Given the description of an element on the screen output the (x, y) to click on. 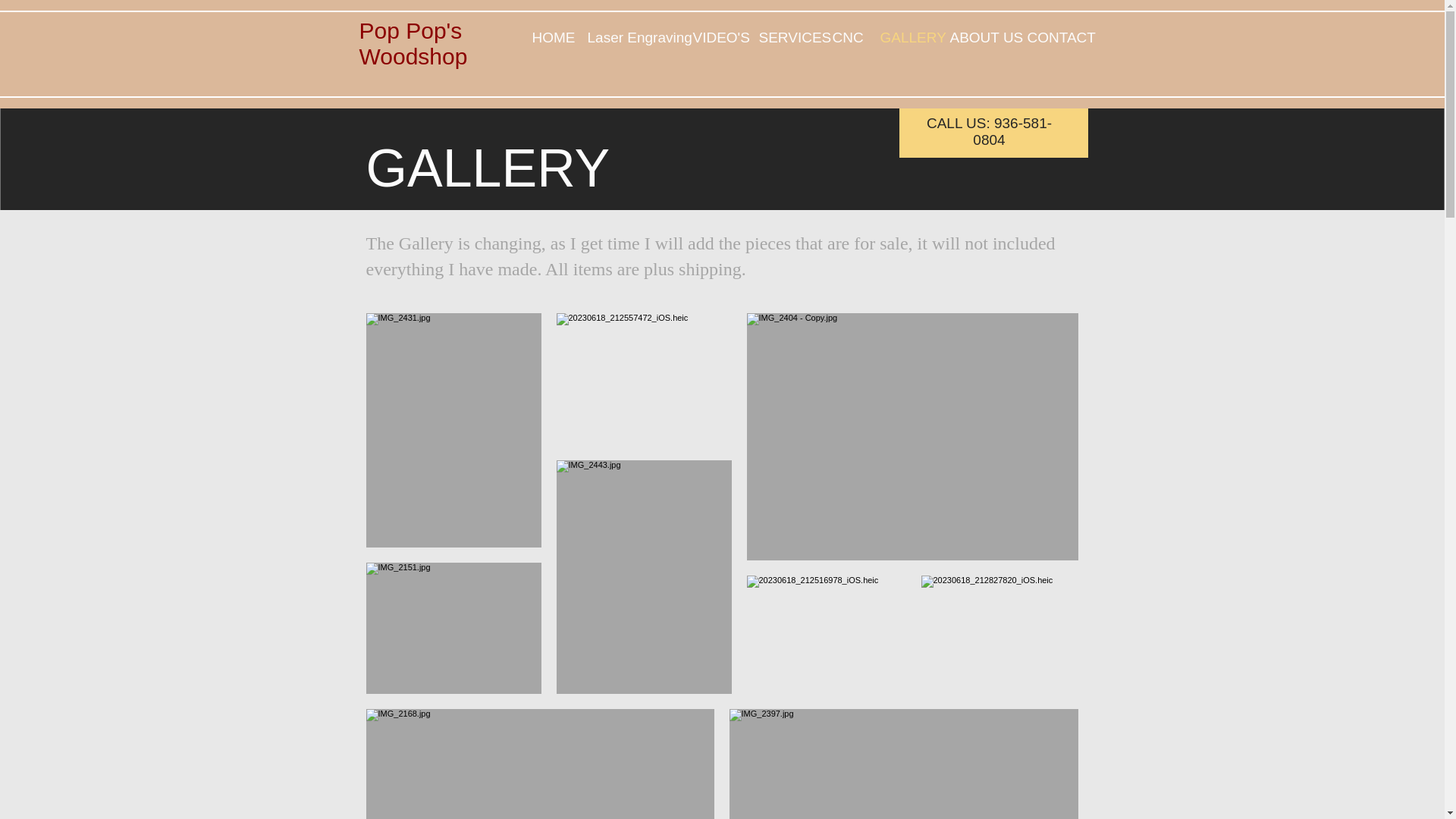
CNC (844, 37)
GALLERY (904, 37)
Laser Engraving (628, 37)
HOME (547, 37)
ABOUT US (977, 37)
VIDEO'S (713, 37)
Pop Pop's Woodshop (413, 43)
CONTACT (1051, 37)
SERVICES (784, 37)
